Given the description of an element on the screen output the (x, y) to click on. 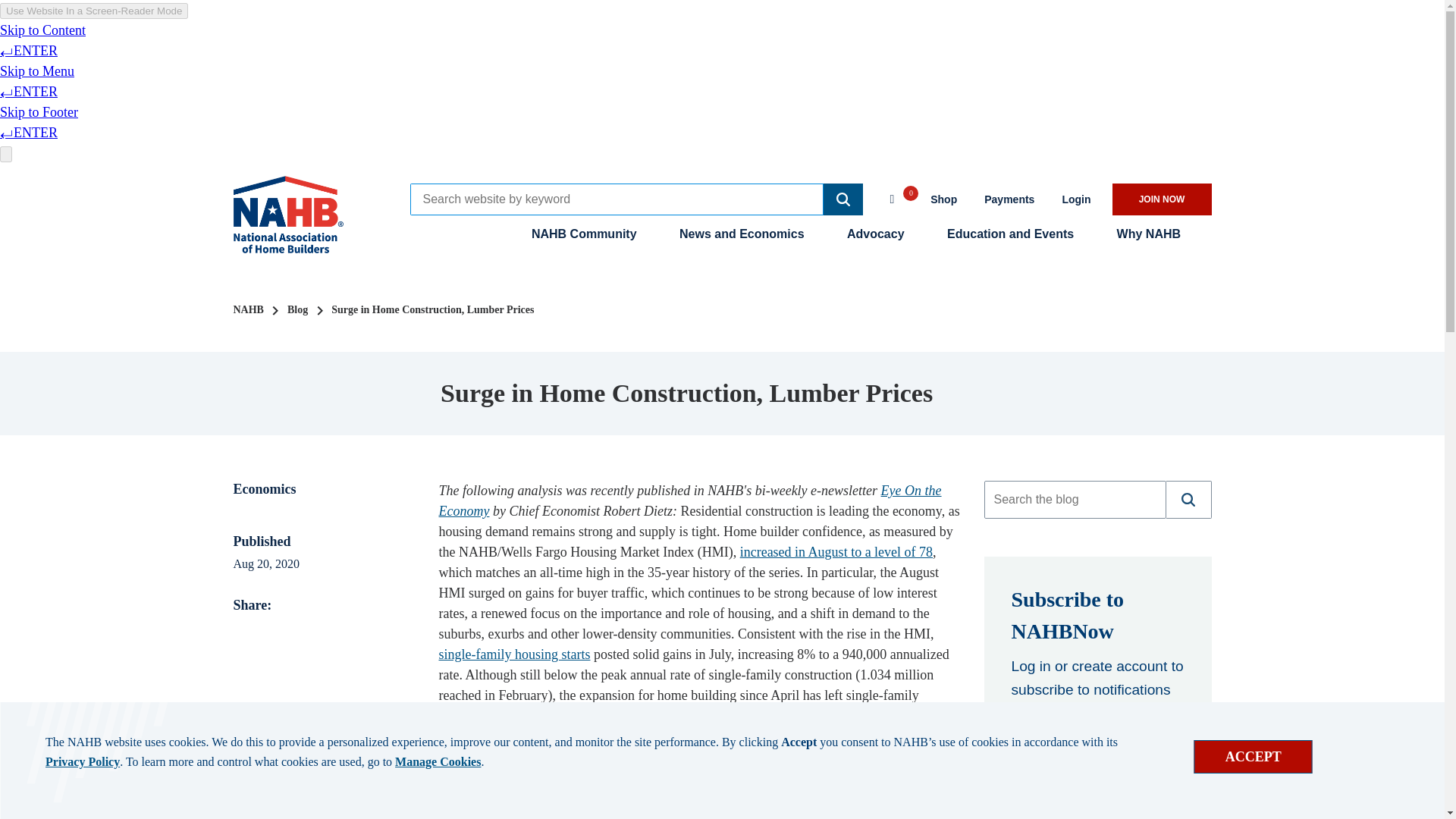
Opens a page (1075, 199)
JOIN NOW (1161, 199)
Shop (944, 199)
Click here to view the cart (899, 197)
Login (1075, 199)
Opens a page (1093, 758)
Opens a page in a new window (944, 199)
Opens a page (1161, 199)
Opens a page in a new window (689, 500)
Opens a page in a new window (1009, 199)
